Given the description of an element on the screen output the (x, y) to click on. 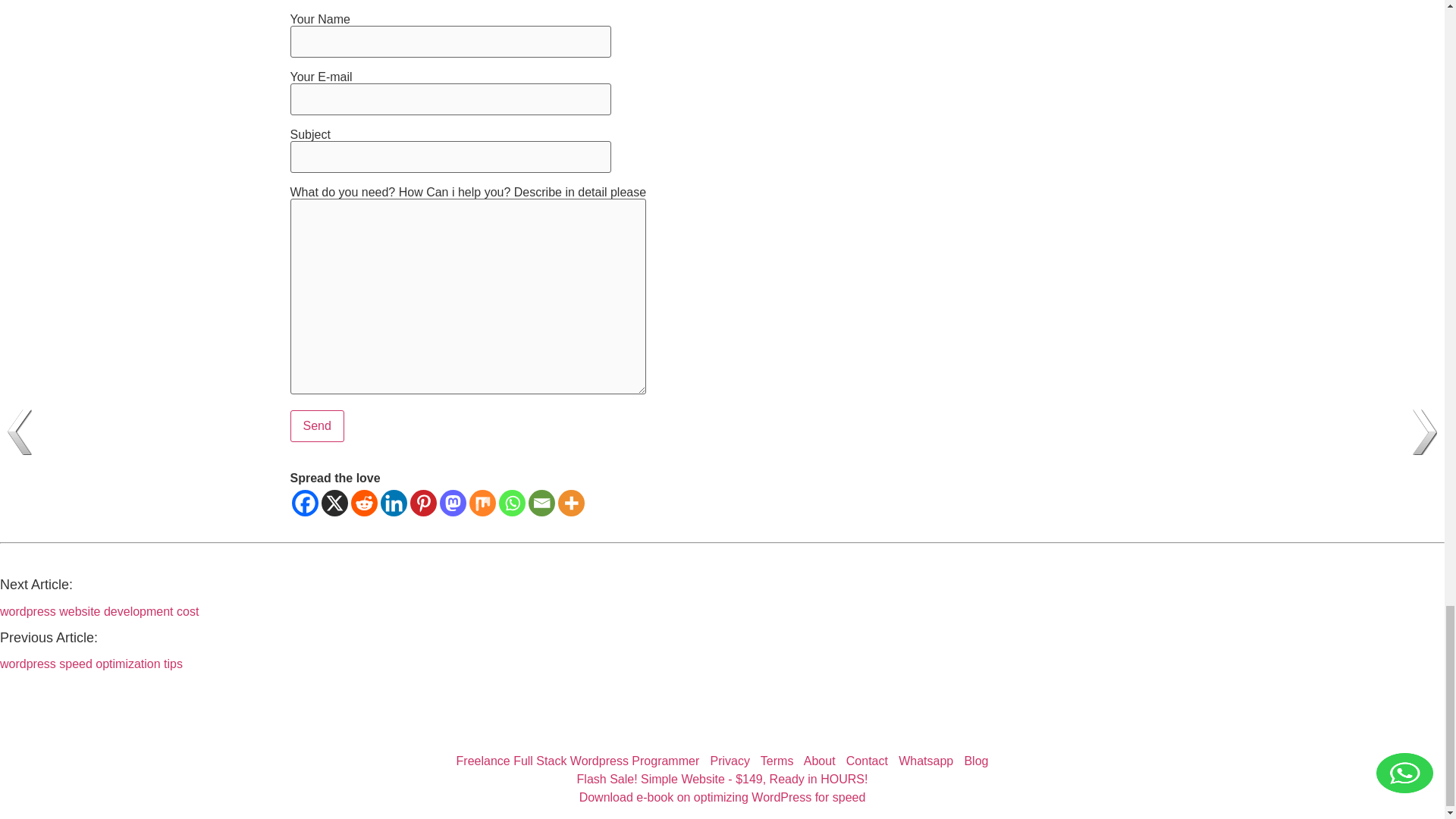
Send (316, 426)
wordpress speed optimization tips (91, 663)
Send (316, 426)
wordpress website development cost (99, 611)
Freelance Full Stack Wordpress Programmer (578, 760)
